Given the description of an element on the screen output the (x, y) to click on. 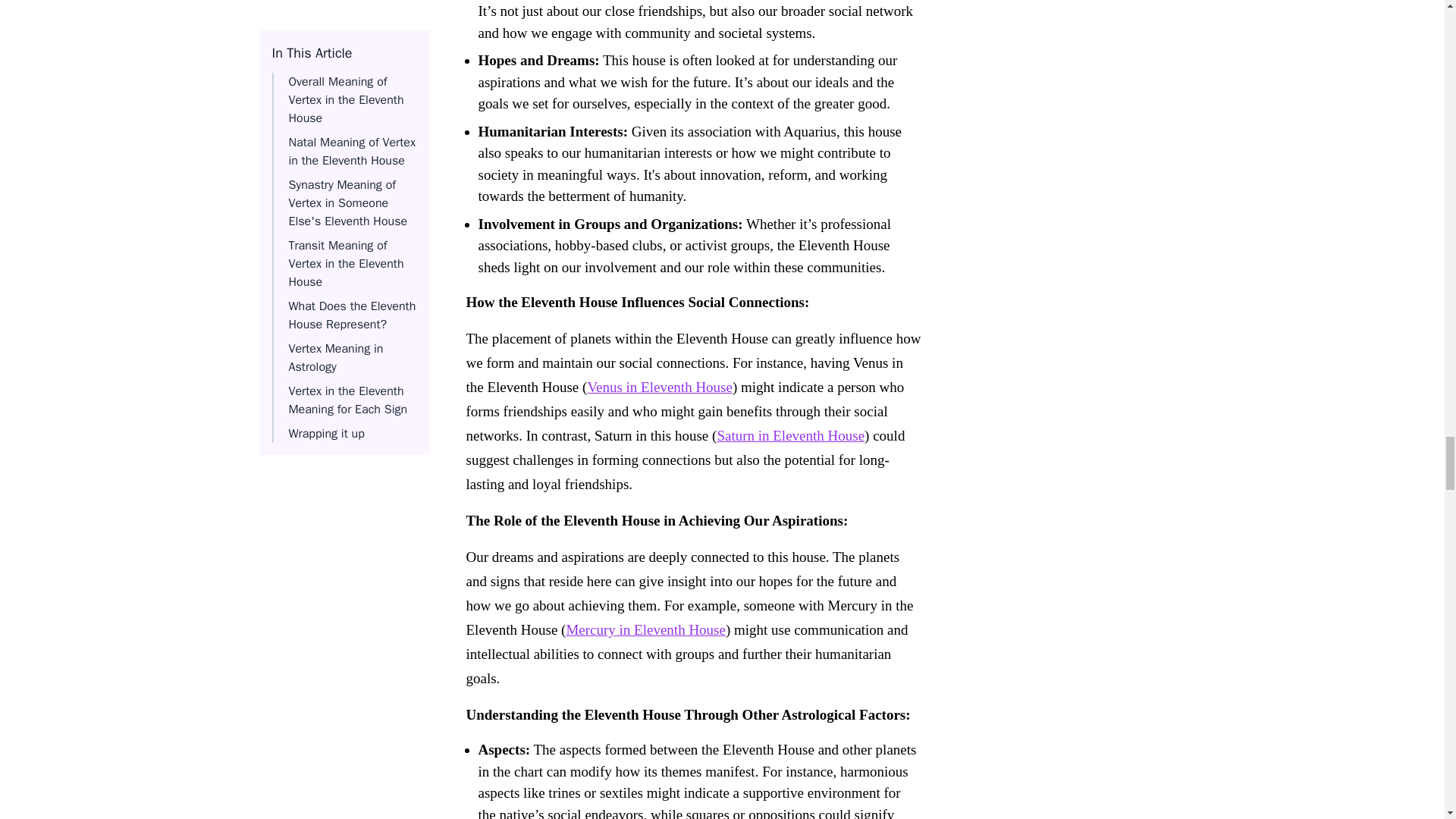
Mercury in Eleventh House (645, 629)
Saturn in Eleventh House (790, 435)
Venus in Eleventh House (659, 386)
